Given the description of an element on the screen output the (x, y) to click on. 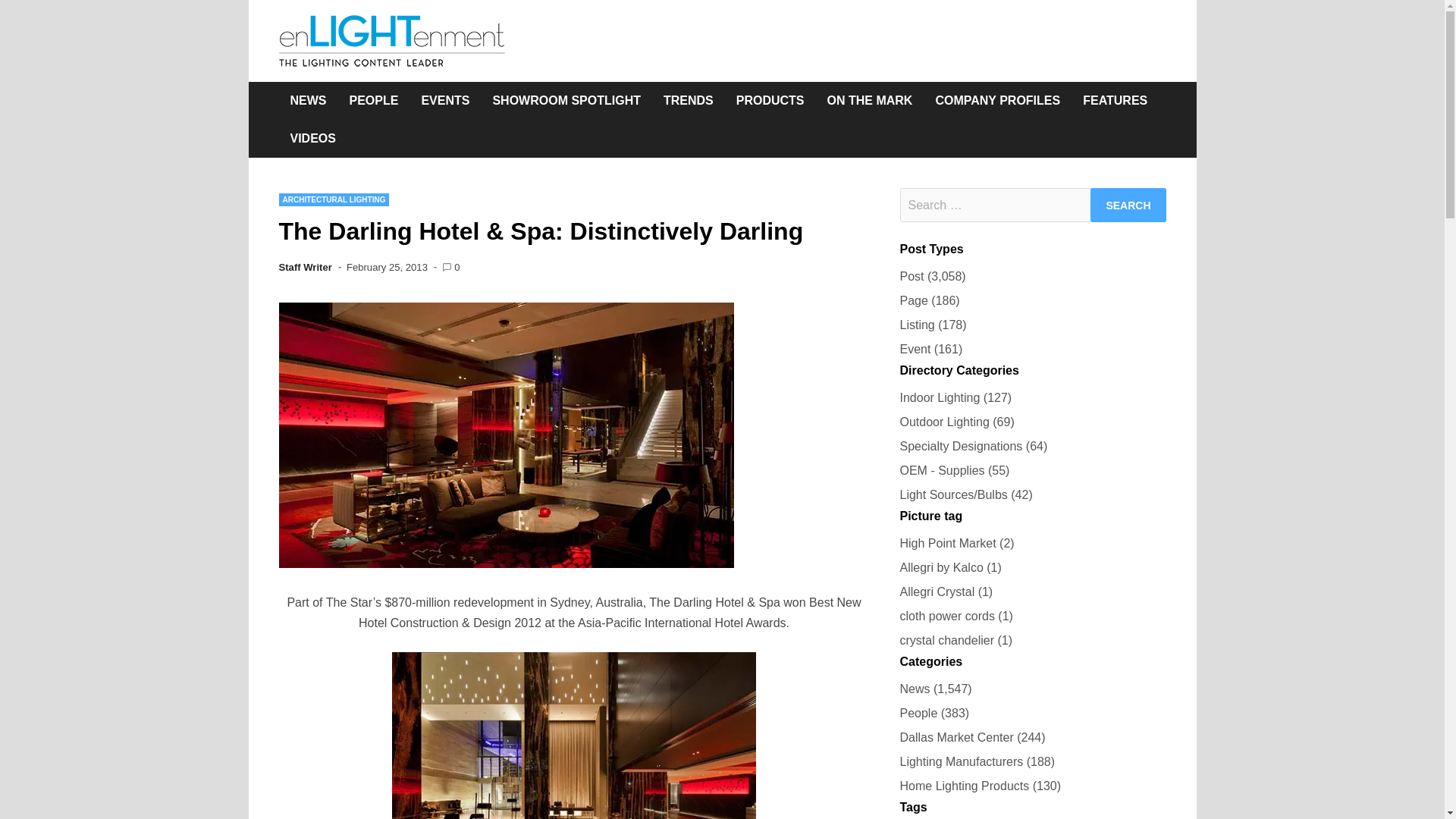
TRENDS (688, 100)
The Darling Best Tech Hotel at the 2012 HM Awards (573, 735)
ARCHITECTURAL LIGHTING (334, 199)
Search (1128, 204)
PEOPLE (373, 100)
Search (1128, 204)
ON THE MARK (869, 100)
EVENTS (444, 100)
February 25, 2013 (387, 266)
Staff Writer (305, 266)
VIDEOS (313, 138)
COMPANY PROFILES (997, 100)
NEWS (308, 100)
SHOWROOM SPOTLIGHT (566, 100)
FEATURES (1114, 100)
